Given the description of an element on the screen output the (x, y) to click on. 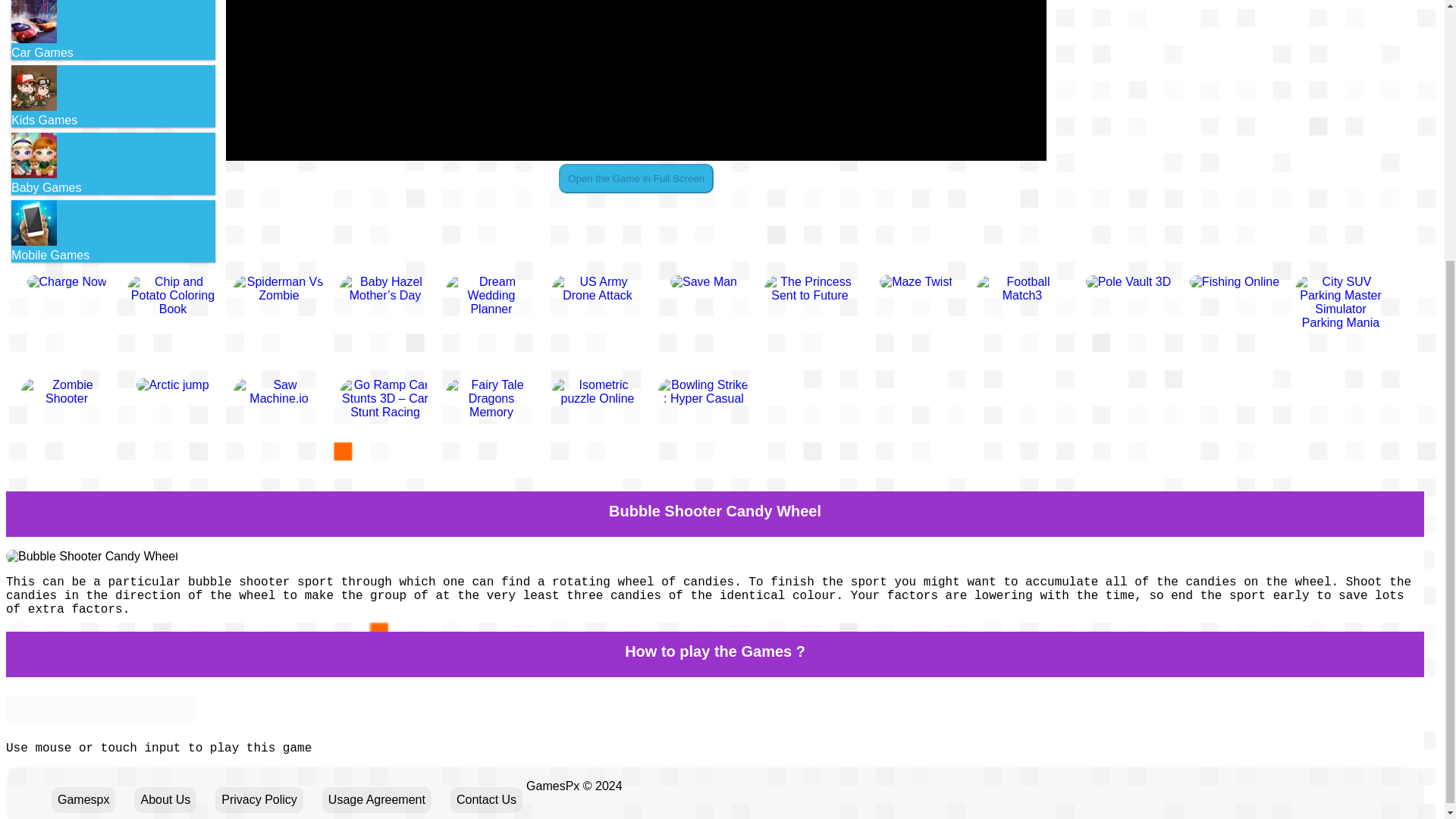
Open the Game in Full Screen (636, 178)
Car Games (113, 29)
Baby Games (113, 163)
Kids Games (33, 87)
Mobile Games (113, 230)
Car Games (33, 21)
Kids Games (113, 96)
Mobile Games (33, 222)
Baby Games (33, 155)
